Given the description of an element on the screen output the (x, y) to click on. 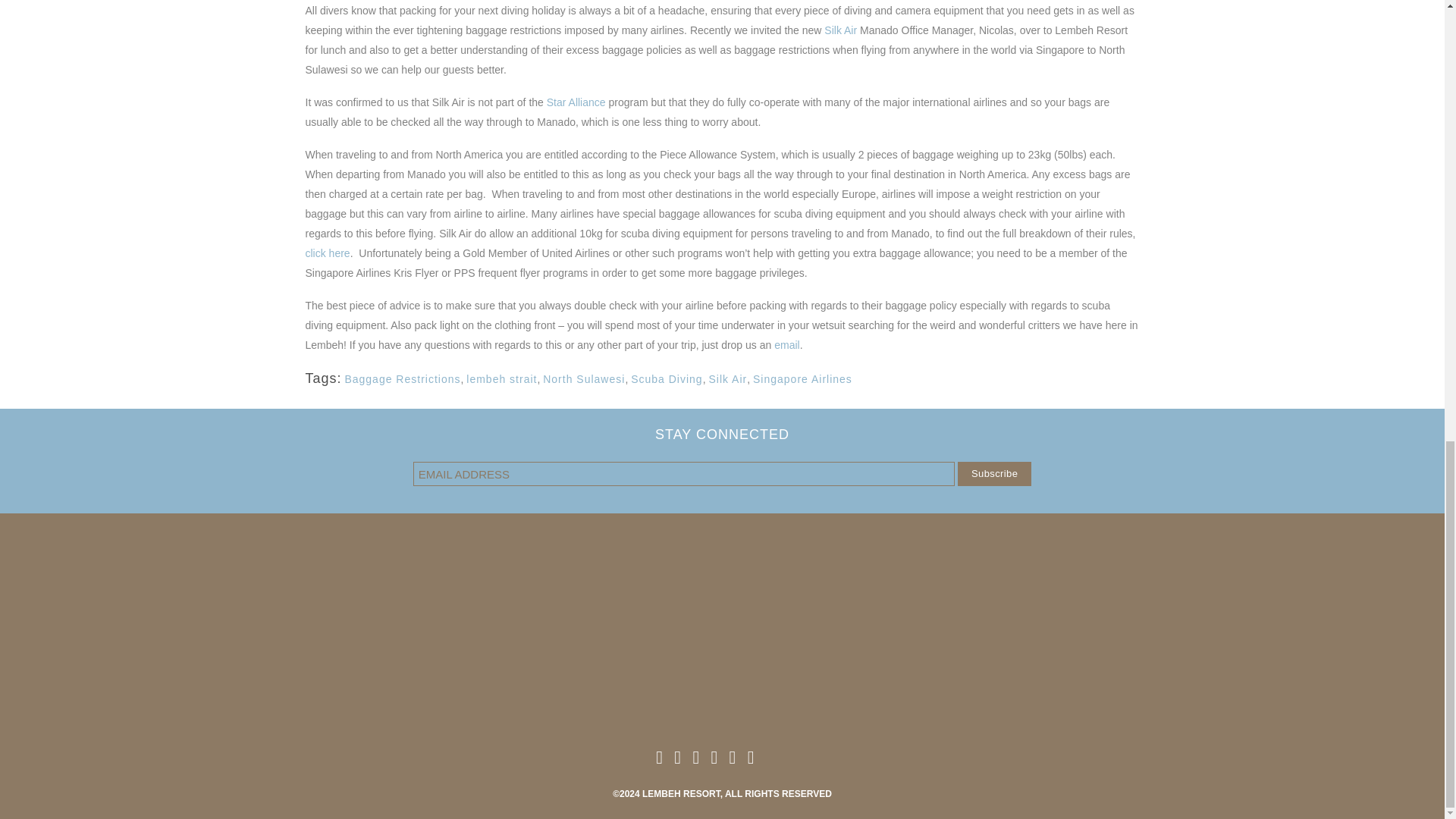
Contact Lembeh Resort (722, 719)
Subscribe (994, 473)
